Given the description of an element on the screen output the (x, y) to click on. 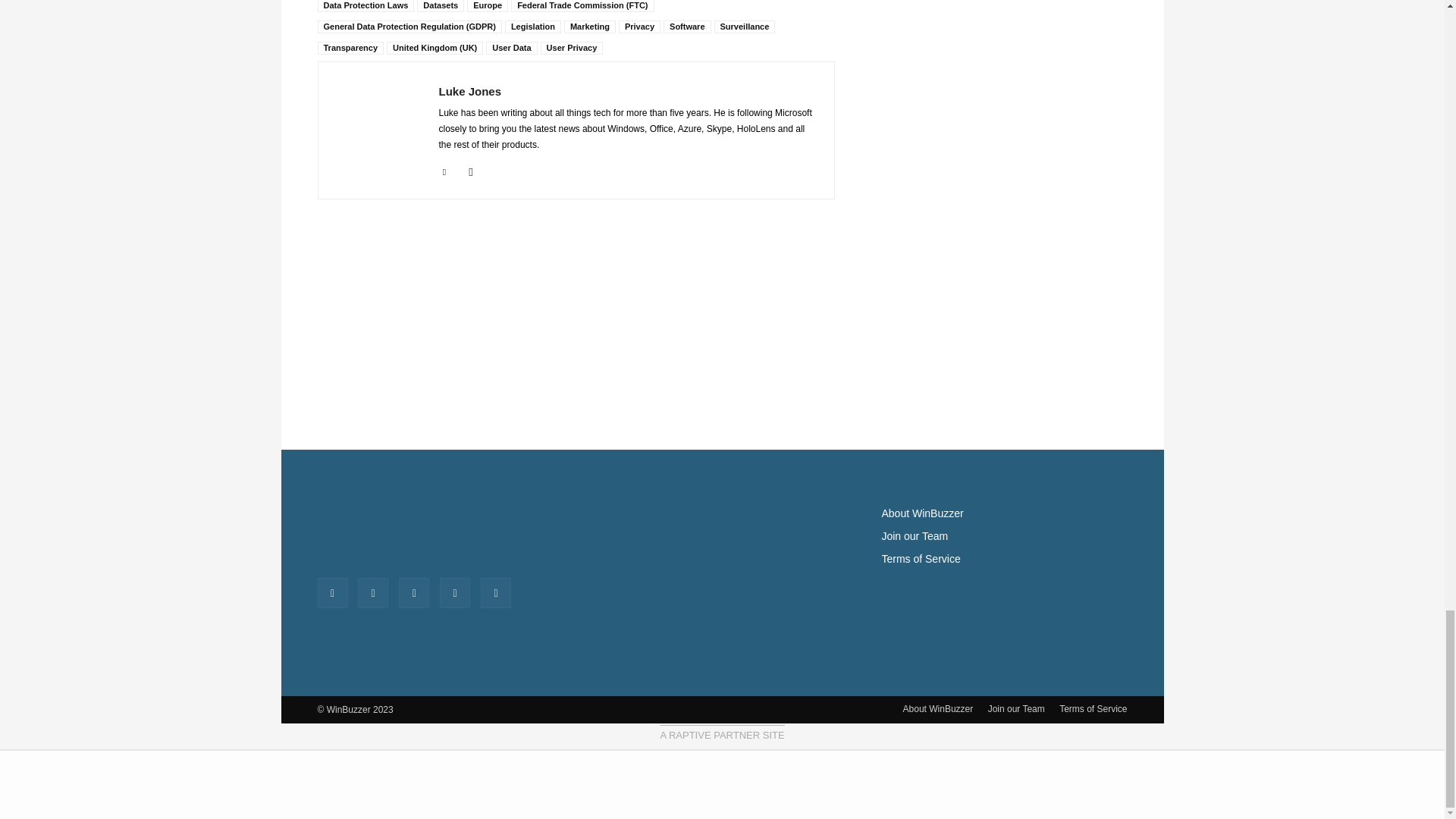
Linkedin (443, 169)
